Given the description of an element on the screen output the (x, y) to click on. 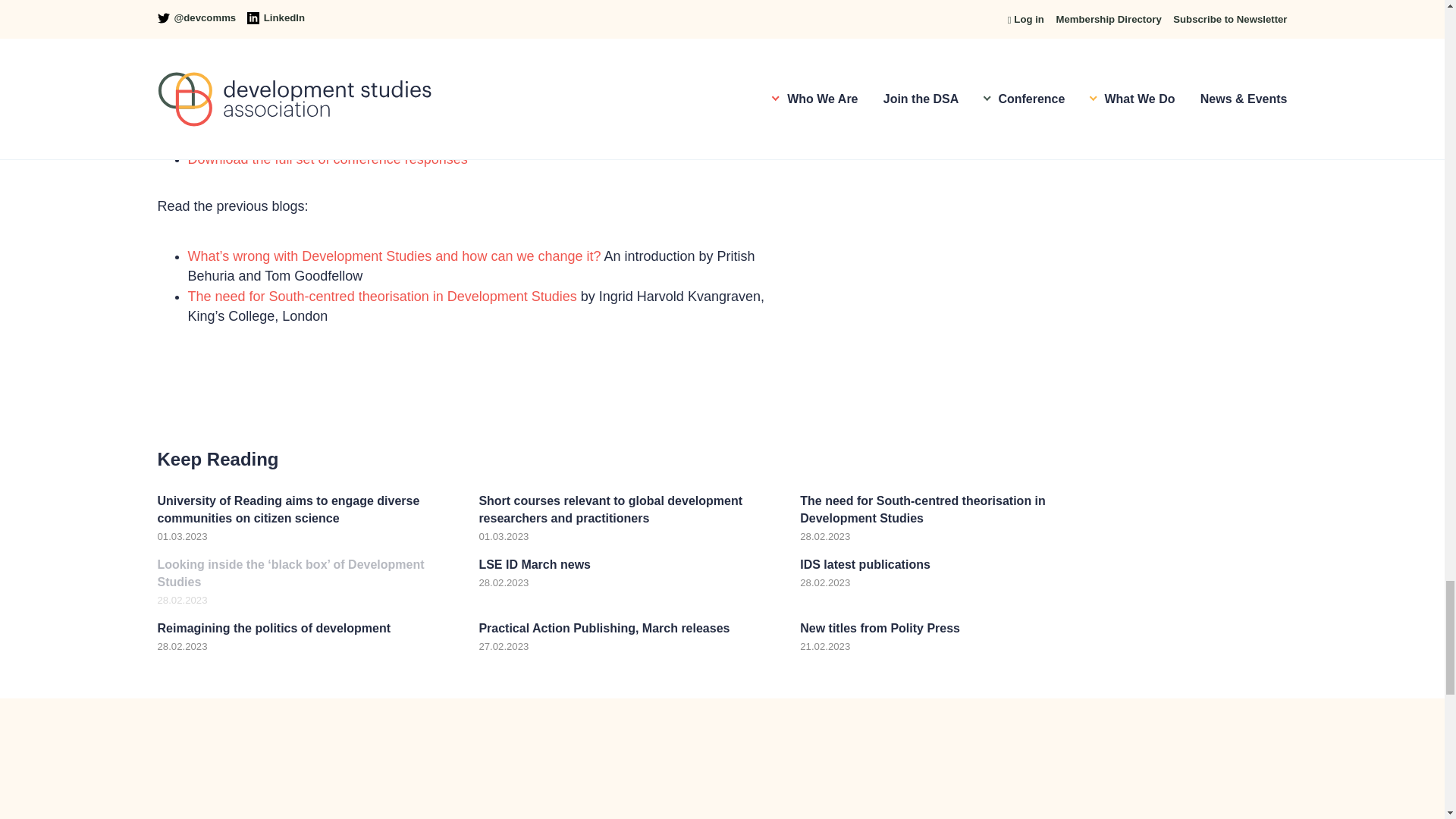
Permalink to LSE ID March news (628, 572)
Permalink to Practical Action Publishing, March releases (628, 635)
Permalink to Reimagining the politics of development (307, 635)
Permalink to IDS latest publications (949, 572)
Permalink to New titles from Polity Press (949, 635)
